Given the description of an element on the screen output the (x, y) to click on. 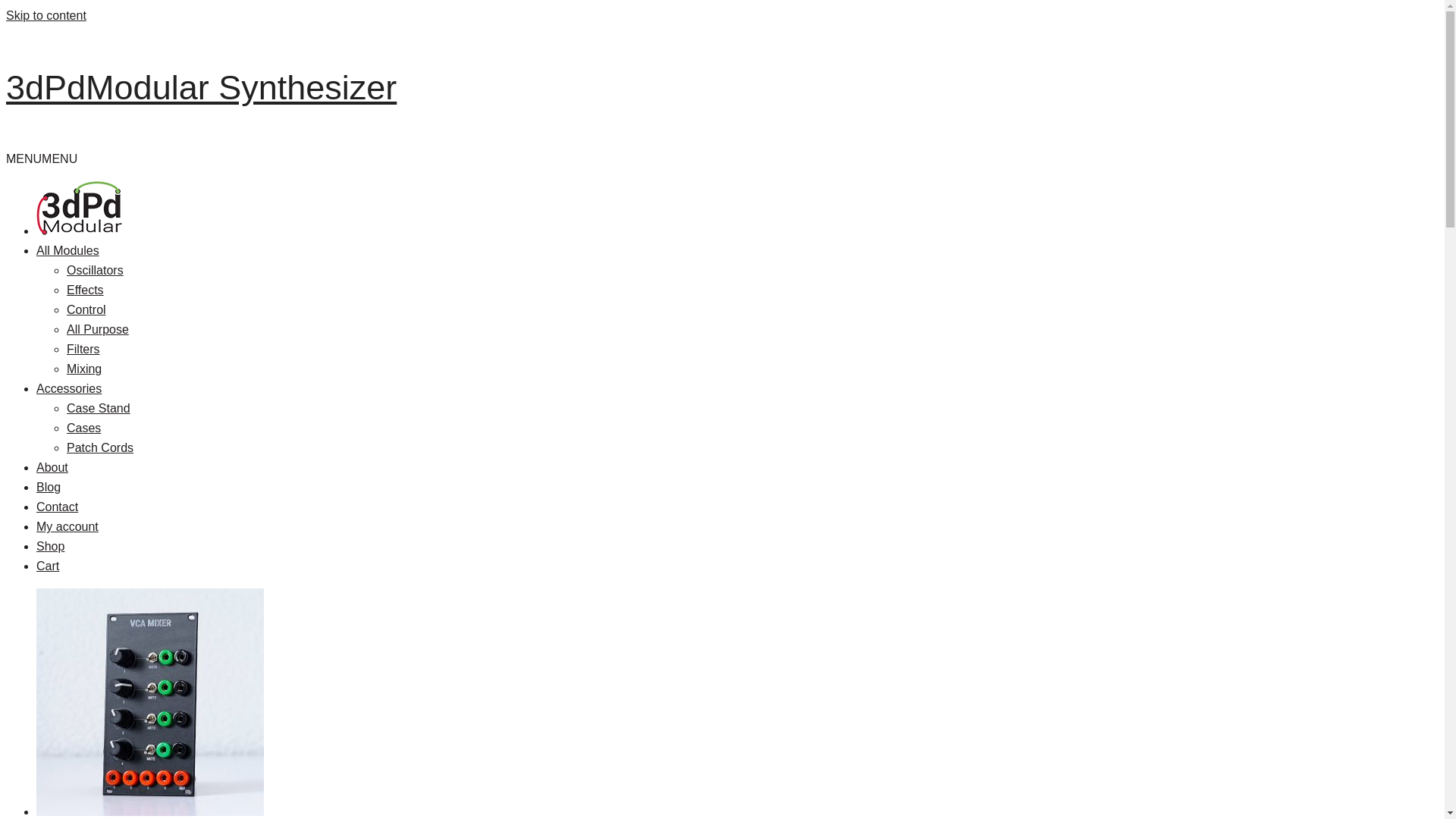
Oscillators Element type: text (94, 269)
Mixing Element type: text (83, 368)
Accessories Element type: text (68, 388)
Cart Element type: text (47, 565)
Patch Cords Element type: text (99, 447)
Contact Element type: text (57, 506)
Case Stand Element type: text (98, 407)
All Purpose Element type: text (97, 329)
Skip to content Element type: text (46, 15)
3dPdModular Synthesizer Element type: text (201, 87)
Shop Element type: text (50, 545)
Filters Element type: text (83, 348)
About Element type: text (52, 467)
Cases Element type: text (83, 427)
Blog Element type: text (48, 486)
Control Element type: text (86, 309)
Effects Element type: text (84, 289)
All Modules Element type: text (67, 250)
My account Element type: text (67, 526)
